Given the description of an element on the screen output the (x, y) to click on. 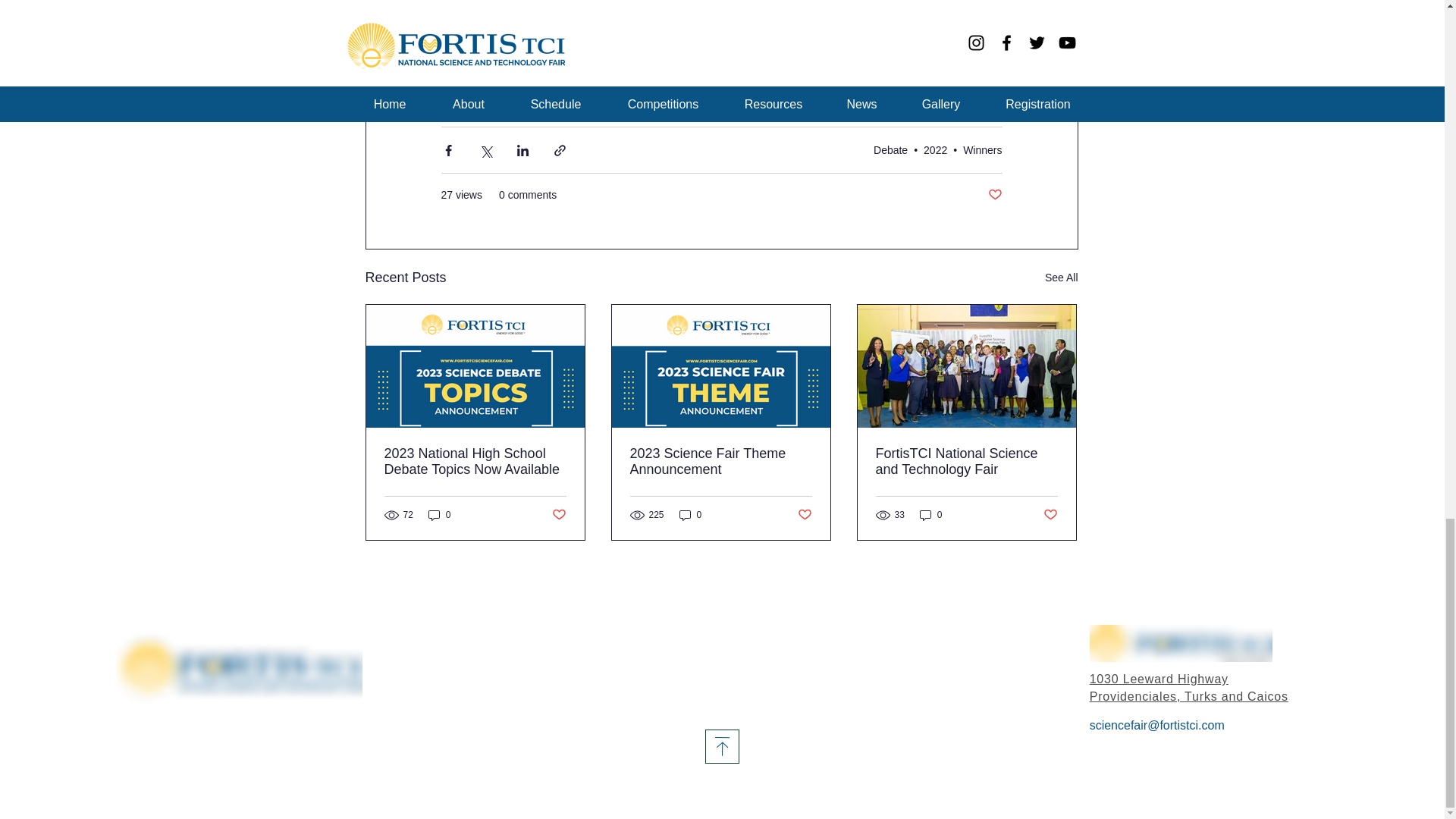
2023 National High School Debate Topics Now Available (475, 461)
See All (1061, 277)
Winners (981, 150)
2022 (935, 150)
0 (439, 514)
Post not marked as liked (994, 195)
Debate (890, 150)
